Given the description of an element on the screen output the (x, y) to click on. 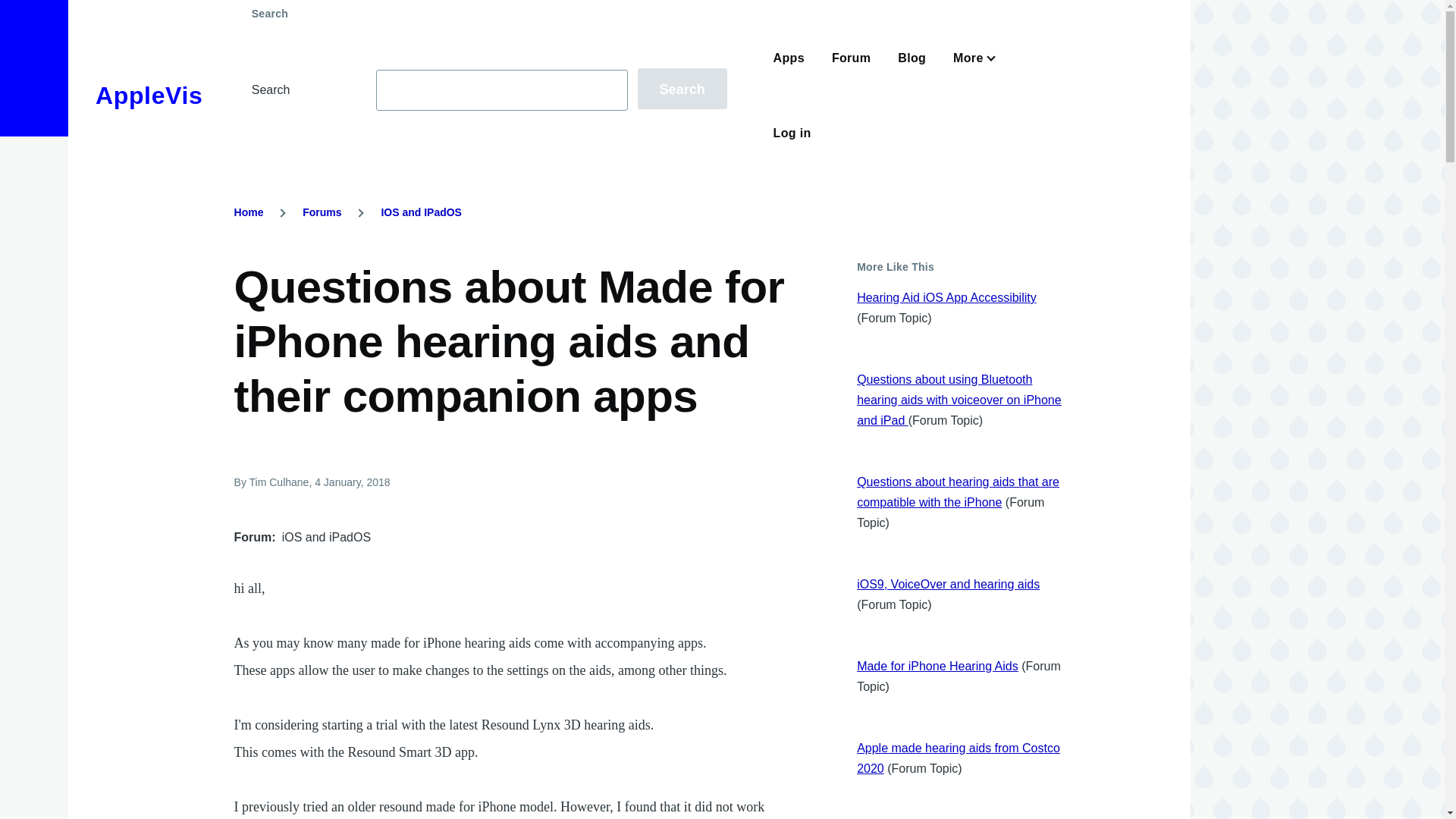
iOS9, VoiceOver and hearing aids (948, 584)
Skip to main content (595, 6)
Apple made hearing aids from Costco 2020 (958, 758)
Search (681, 87)
Home (149, 94)
Search (681, 87)
Hearing Aid iOS App Accessibility (946, 297)
IOS and IPadOS (420, 212)
Home (248, 212)
Made for iPhone Hearing Aids (937, 666)
AppleVis (149, 94)
Forums (321, 212)
